Given the description of an element on the screen output the (x, y) to click on. 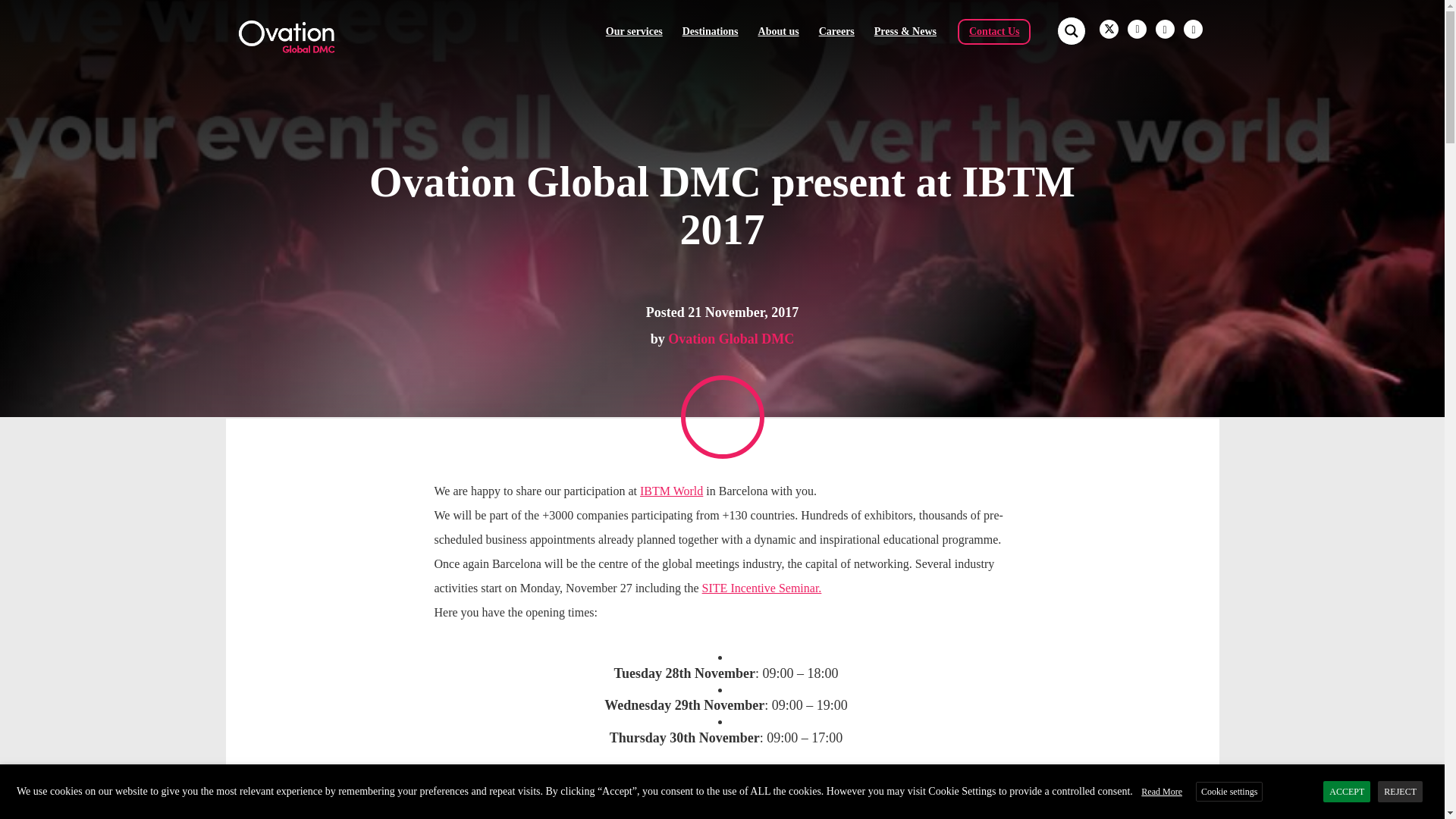
Our services (633, 30)
Director of Global Sales, Rutger Hoorn (890, 793)
About us (778, 30)
Contact Us (994, 30)
IBTM World (671, 491)
Destinations (710, 30)
Careers (836, 30)
SITE Incentive Seminar. (761, 588)
Close and Accept (1430, 777)
